Given the description of an element on the screen output the (x, y) to click on. 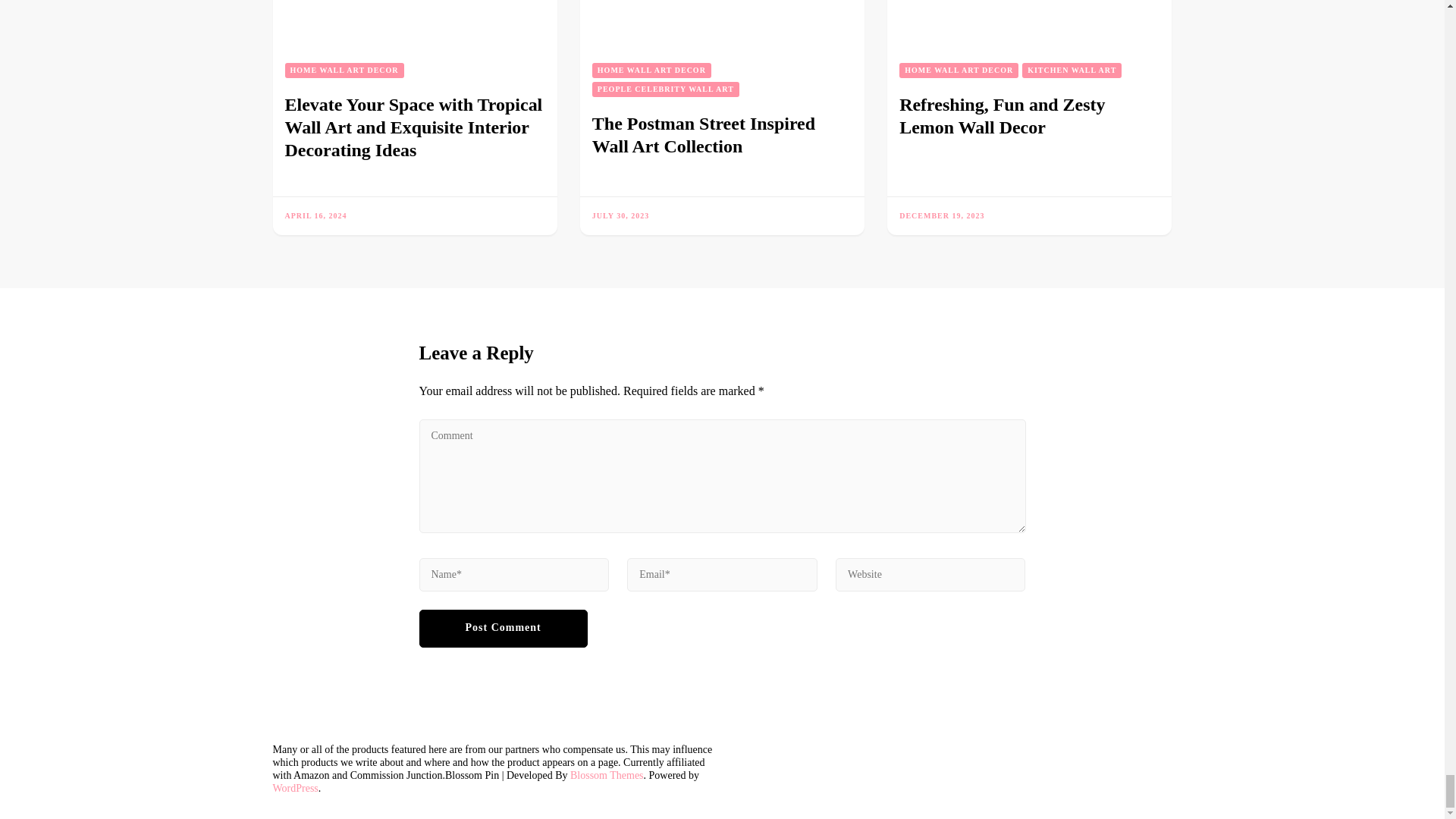
Post Comment (502, 628)
